Given the description of an element on the screen output the (x, y) to click on. 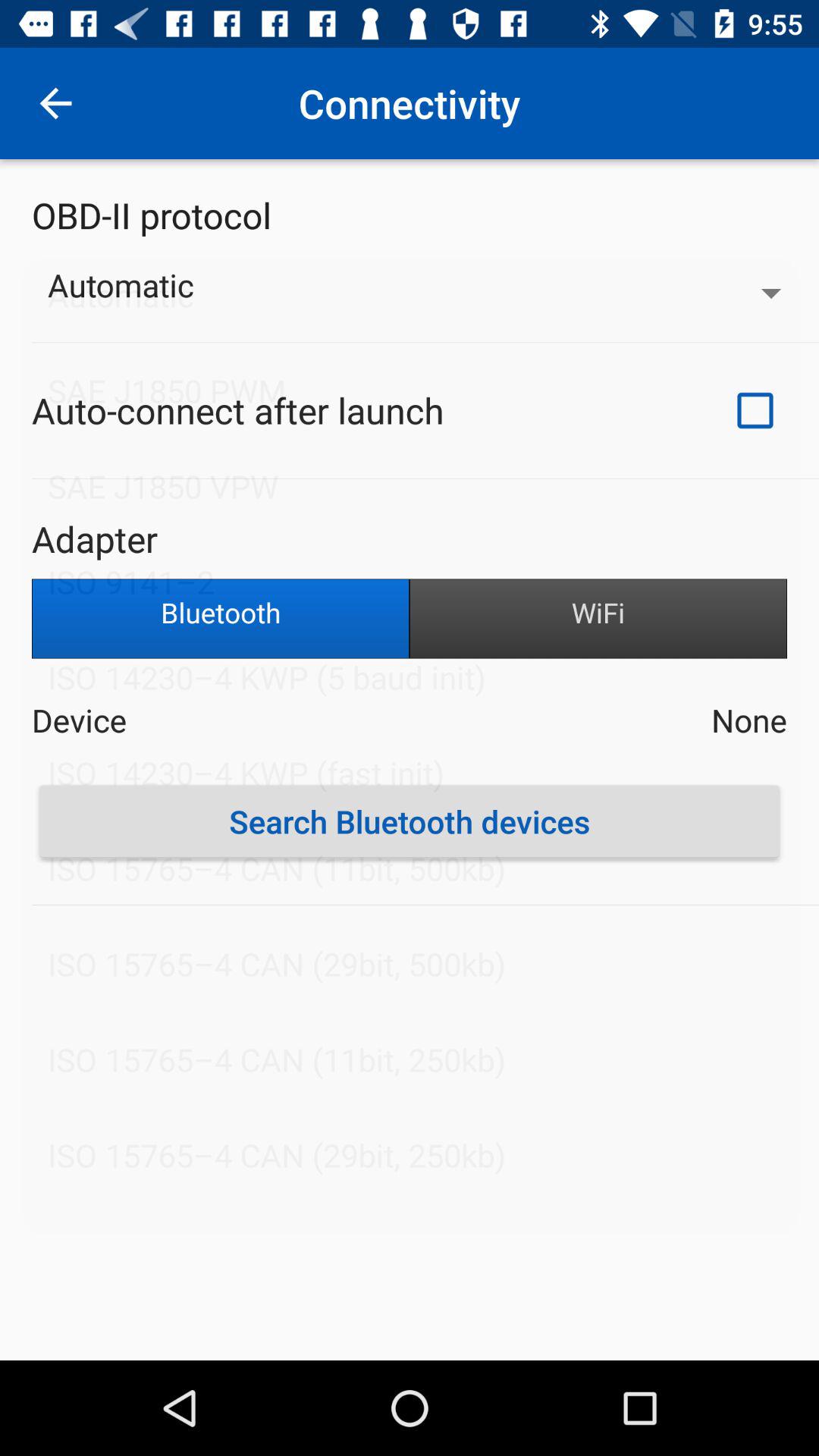
turn on the item on the right (598, 618)
